Given the description of an element on the screen output the (x, y) to click on. 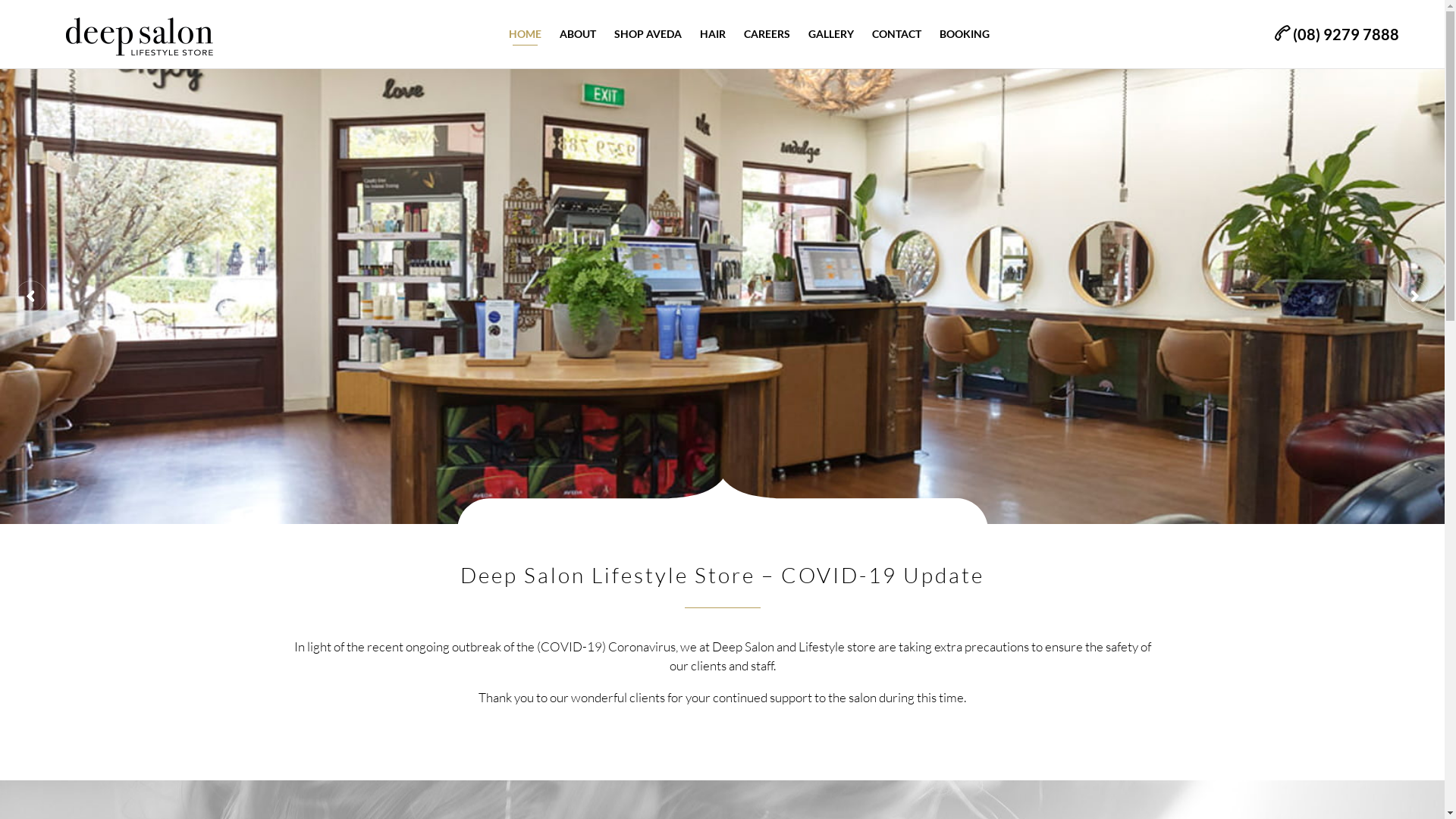
HAIR Element type: text (712, 33)
ABOUT Element type: text (577, 33)
SHOP AVEDA Element type: text (647, 33)
HOME Element type: text (524, 33)
CAREERS Element type: text (766, 33)
Deep Salon Lifestyle Store Element type: hover (140, 35)
Skip to content Element type: text (997, 10)
CONTACT Element type: text (896, 33)
BOOKING Element type: text (964, 33)
GALLERY Element type: text (830, 33)
